Given the description of an element on the screen output the (x, y) to click on. 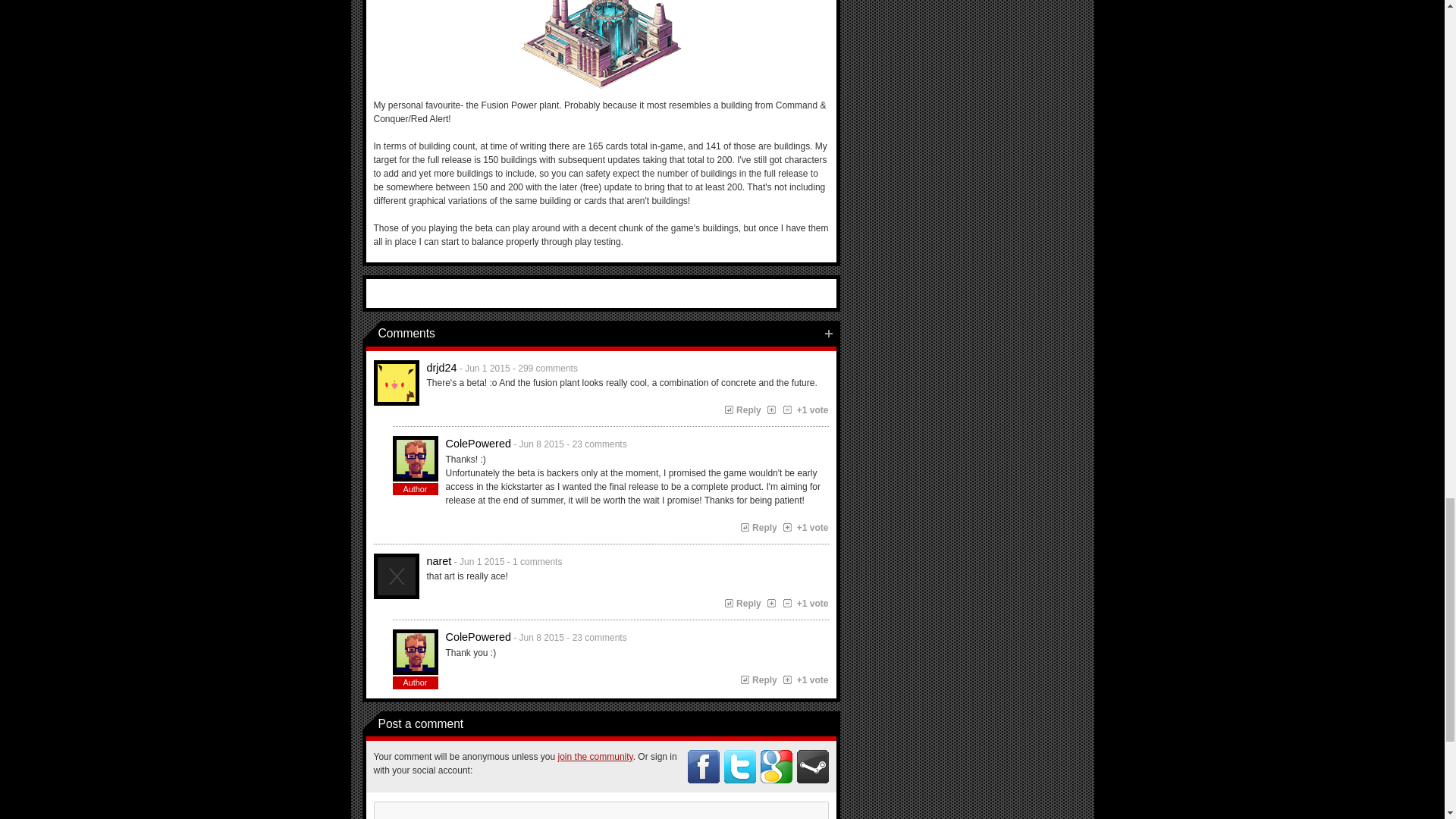
Post comment (828, 333)
drjd24 (395, 382)
Reply (741, 409)
